Given the description of an element on the screen output the (x, y) to click on. 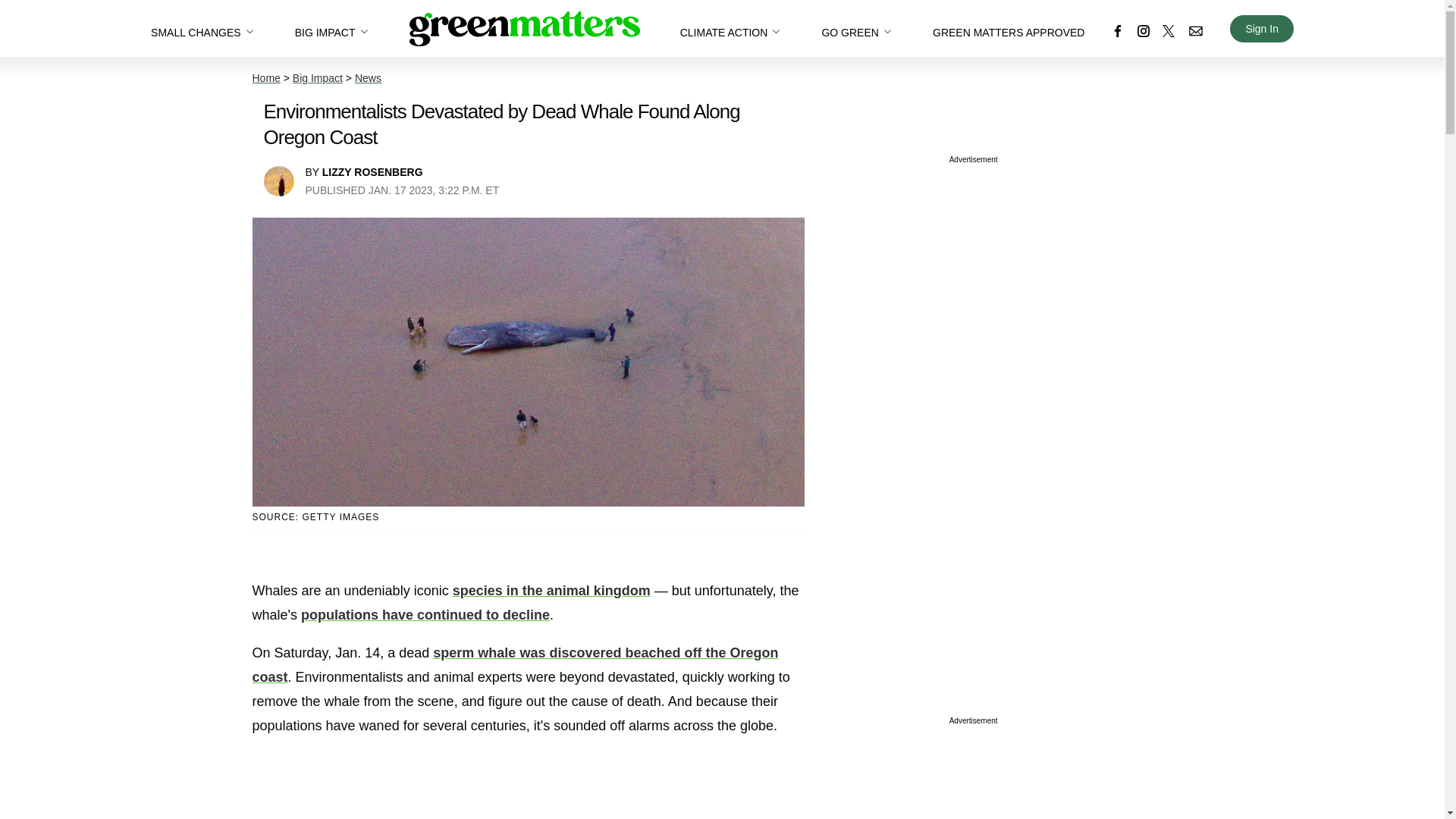
LINK TO INSTAGRAM (1143, 30)
GREEN MATTERS APPROVED (1008, 27)
LINK TO X (1167, 30)
LINK TO FACEBOOK (1118, 30)
LINK TO EMAIL SUBSCRIBE (1196, 30)
Sign In (1262, 28)
